Given the description of an element on the screen output the (x, y) to click on. 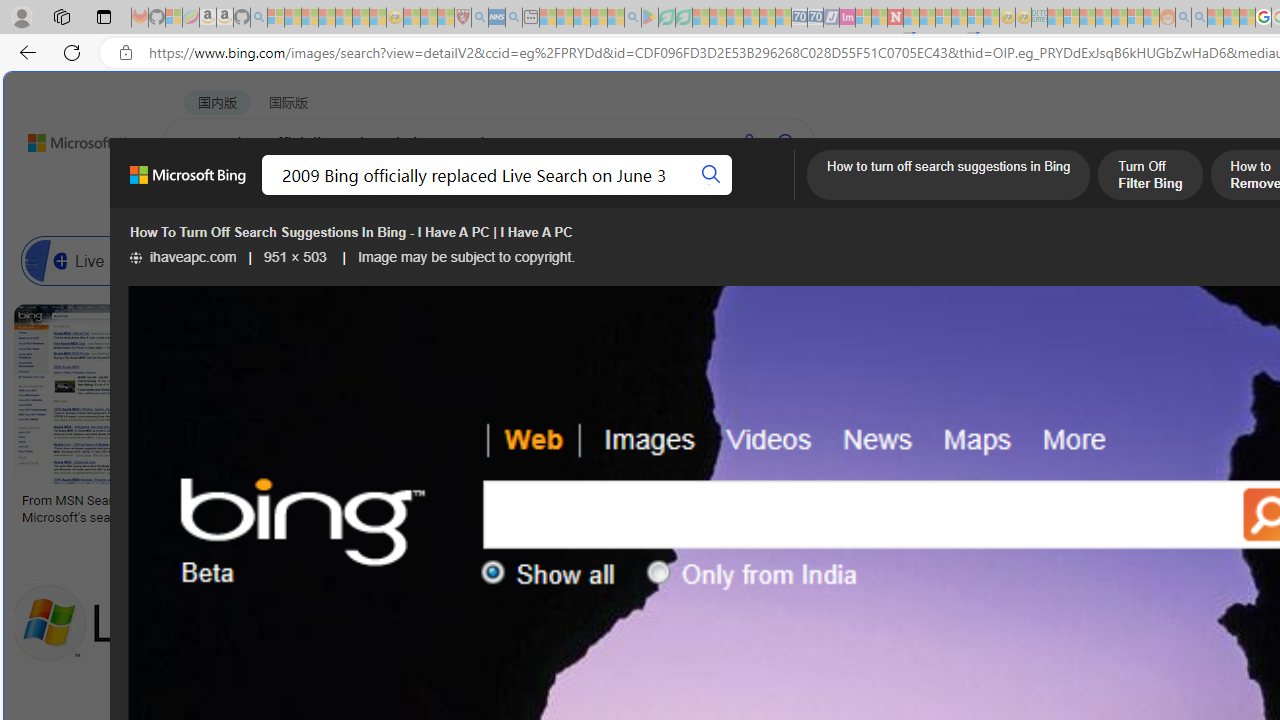
google - Search - Sleeping (632, 17)
Back to Bing search (73, 138)
IMAGES (360, 196)
Bing Logo Design Evolution 2009 to 2016 | Smithographic (1031, 507)
Live Search (45, 260)
WEB (201, 195)
Bluey: Let's Play! - Apps on Google Play - Sleeping (649, 17)
